Given the description of an element on the screen output the (x, y) to click on. 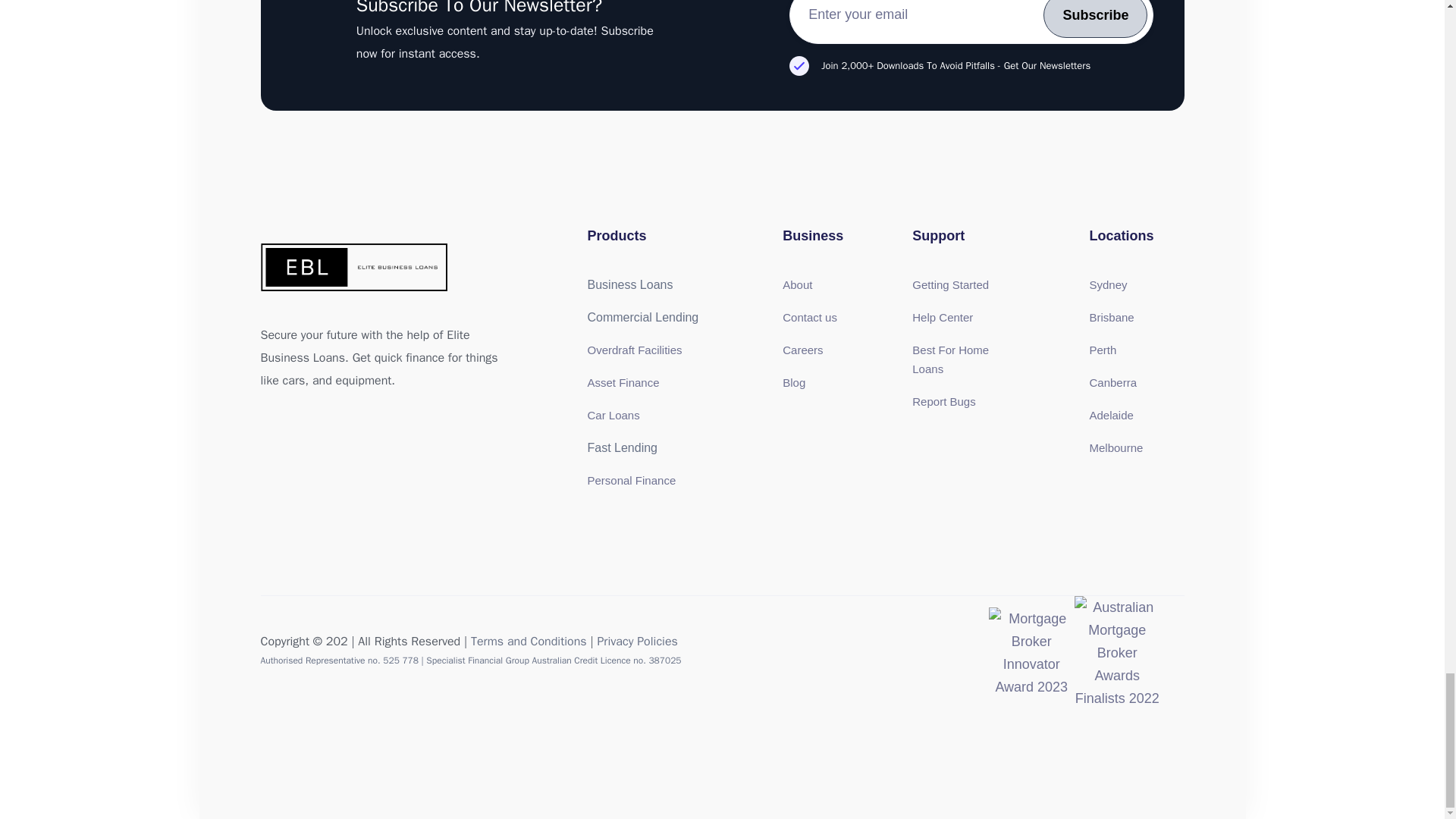
About (797, 284)
Personal Finance (630, 480)
Car Loans (612, 414)
Subscribe (1095, 18)
Overdraft Facilities (633, 349)
Subscribe (1095, 18)
Asset Finance (622, 382)
